Given the description of an element on the screen output the (x, y) to click on. 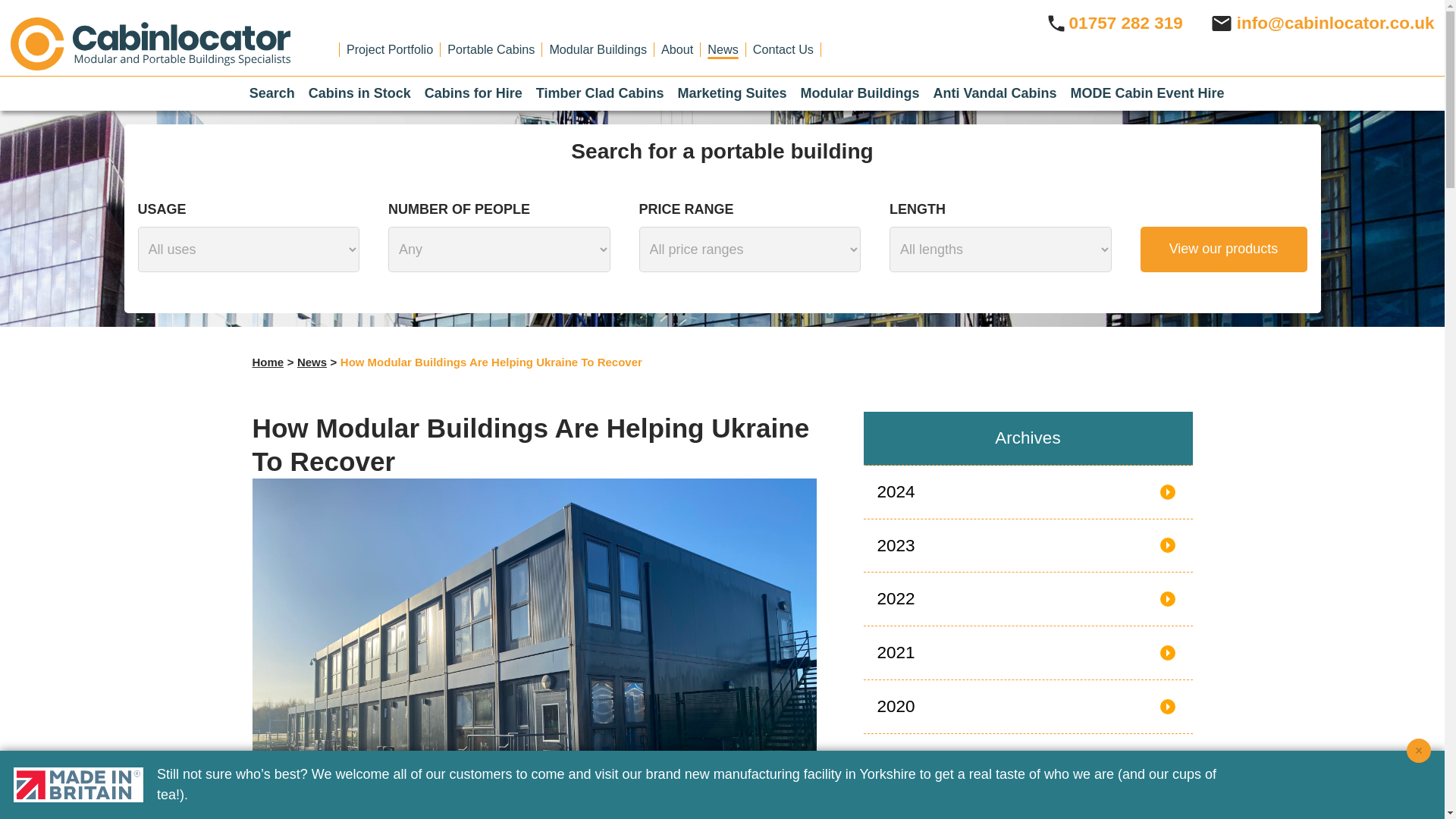
News (722, 49)
Project Portfolio (389, 49)
01757 282 319 (1113, 23)
Portable Cabins (490, 49)
About (677, 49)
Modular Buildings (597, 49)
Contact Us (782, 49)
